Given the description of an element on the screen output the (x, y) to click on. 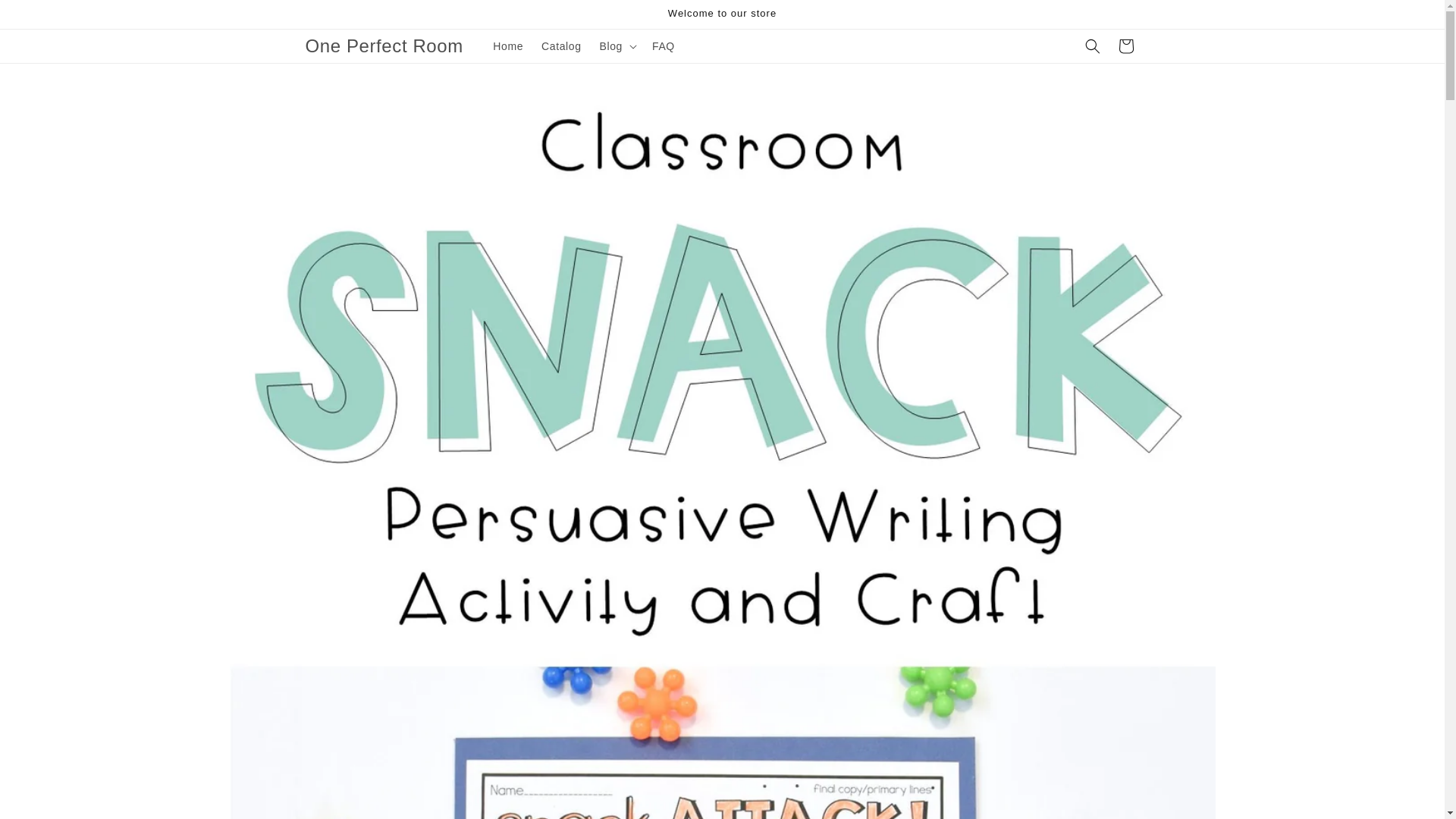
FAQ (663, 46)
Skip to content (45, 17)
Catalog (560, 46)
Cart (1124, 46)
Home (507, 46)
One Perfect Room (383, 46)
